Given the description of an element on the screen output the (x, y) to click on. 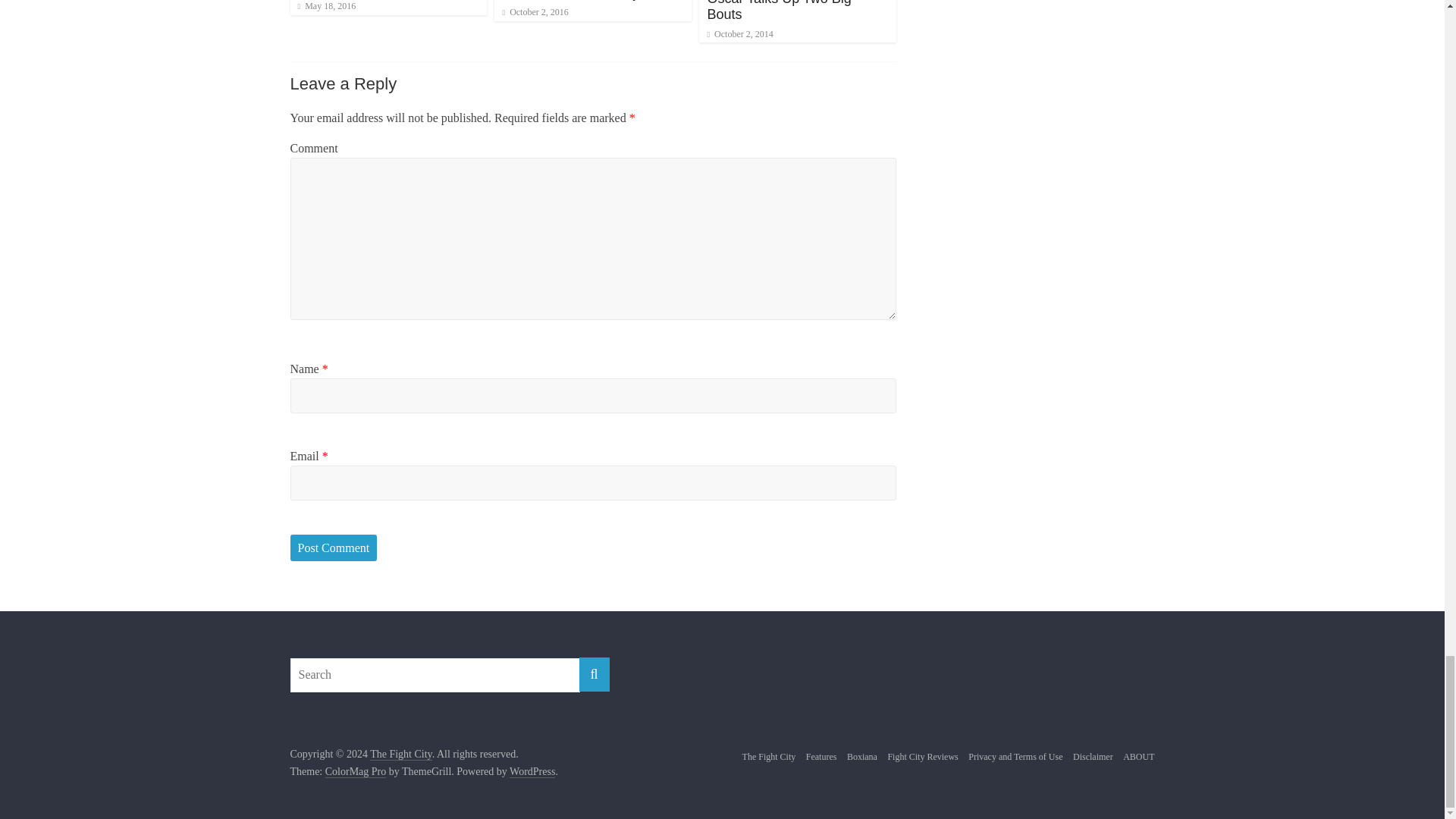
3:04 pm (534, 11)
Oscar Talks Up Two Big Bouts (778, 11)
Oscar Talks Up Two Big Bouts (778, 11)
Post Comment (333, 547)
October 2, 2016 (534, 11)
October 2, 2014 (739, 33)
Post Comment (333, 547)
May 18, 2016 (326, 5)
